Given the description of an element on the screen output the (x, y) to click on. 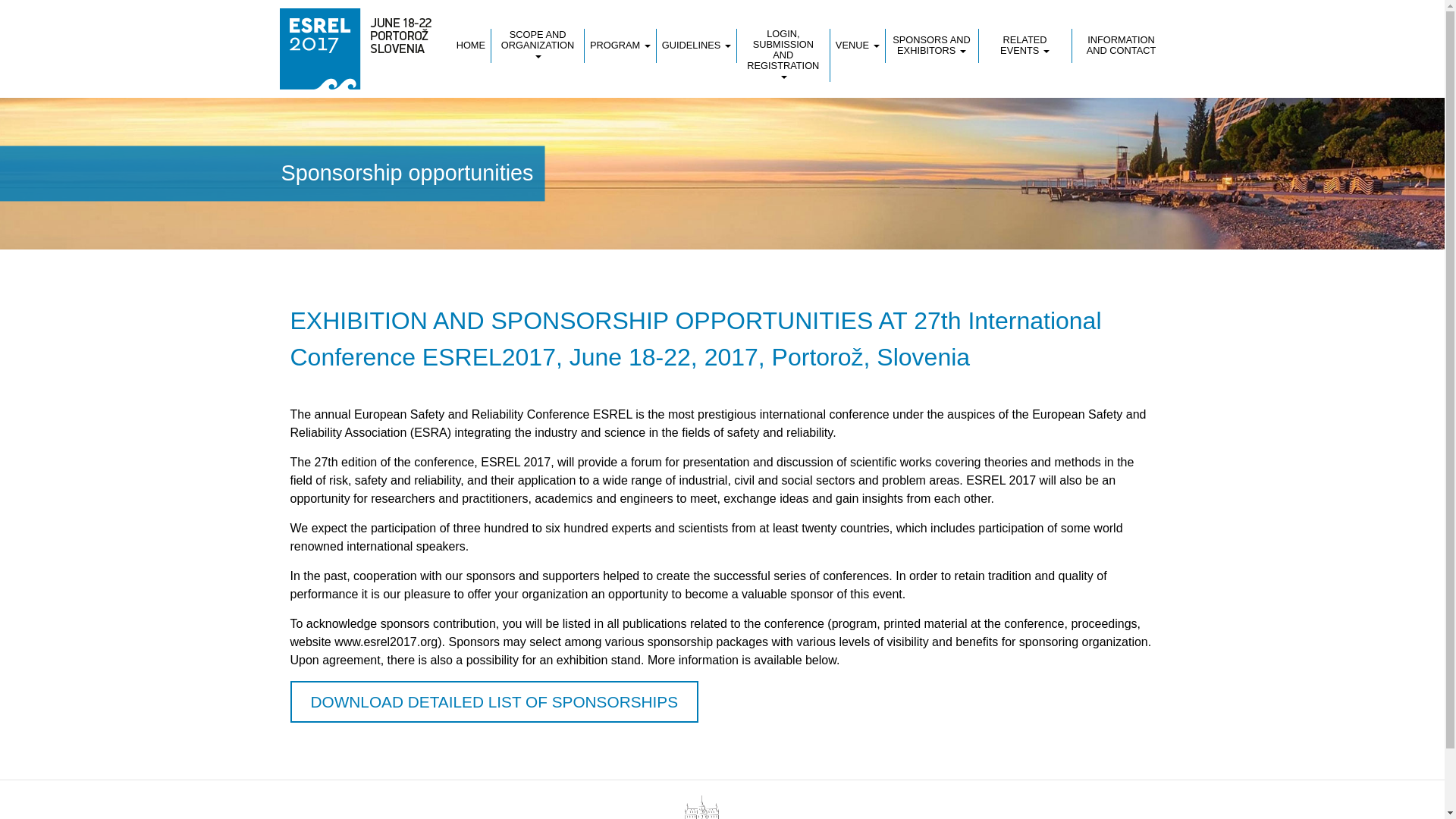
HOME (474, 45)
DOWNLOAD DETAILED LIST OF SPONSORSHIPS (493, 701)
PROGRAM (620, 45)
Guidelines (696, 45)
LOGIN, SUBMISSION AND REGISTRATION (782, 54)
RELATED EVENTS (1024, 45)
VENUE (857, 45)
Home (474, 45)
Program (620, 45)
Login, submission and registration (782, 54)
SCOPE AND ORGANIZATION (538, 45)
Scope and organization (538, 45)
GUIDELINES (696, 45)
INFORMATION AND CONTACT (1118, 45)
SPONSORS AND EXHIBITORS (931, 45)
